Given the description of an element on the screen output the (x, y) to click on. 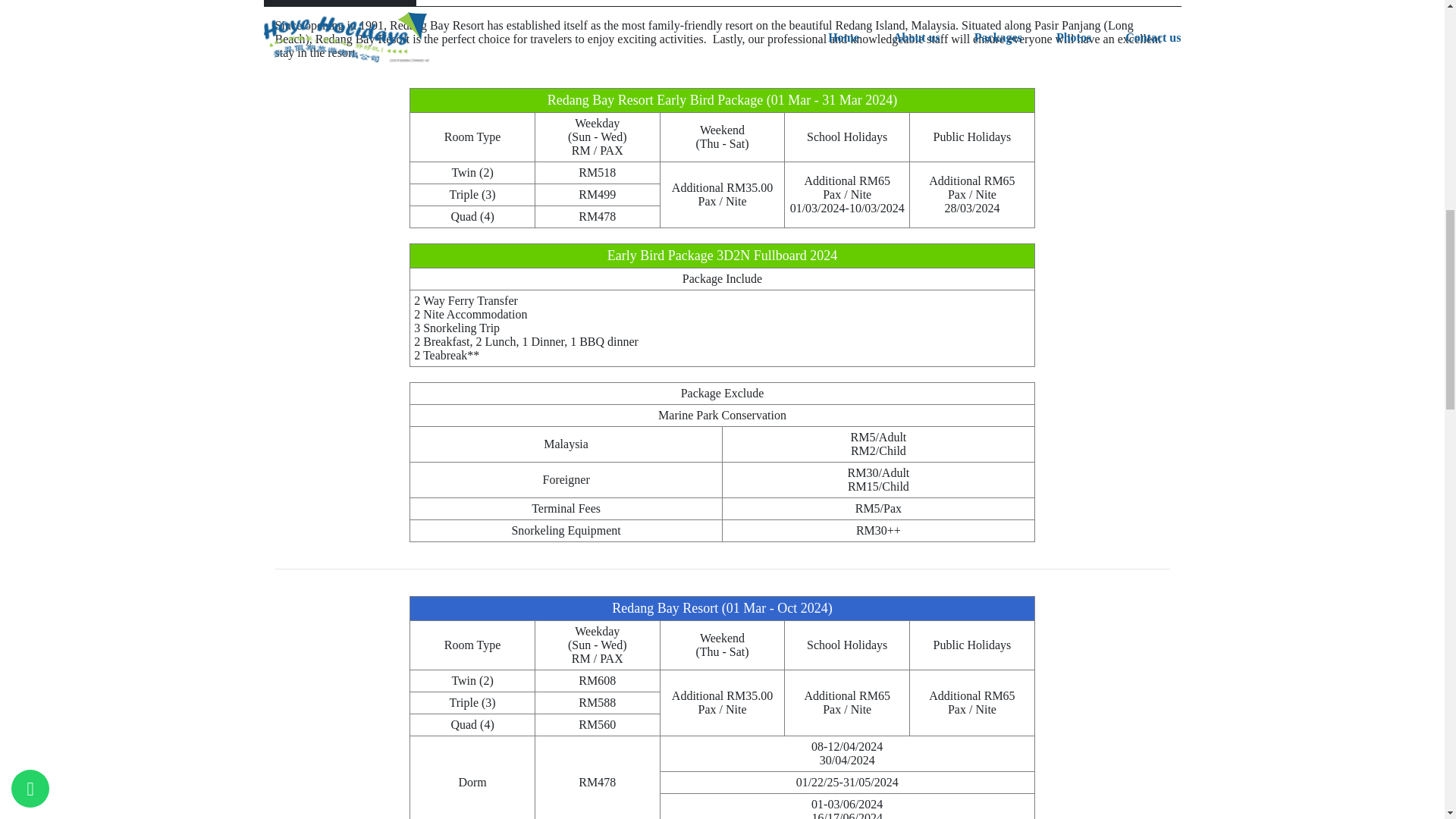
  Description (339, 2)
